Given the description of an element on the screen output the (x, y) to click on. 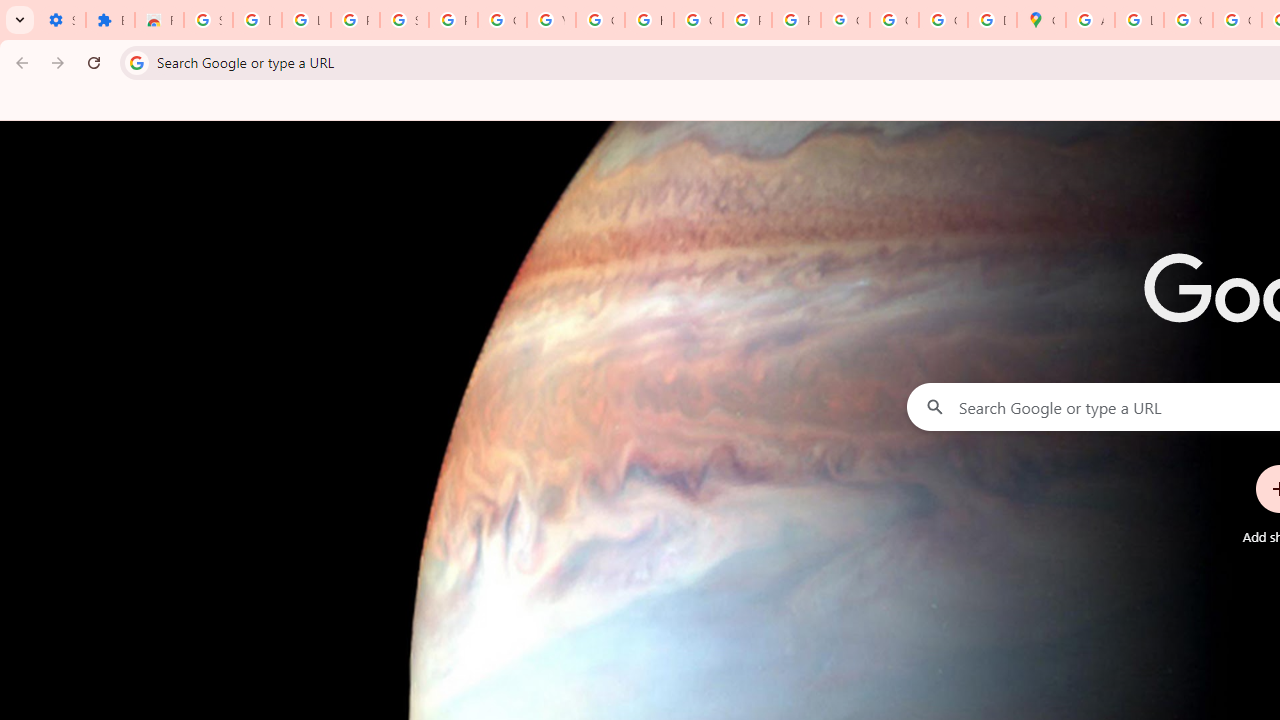
Settings - On startup (61, 20)
Sign in - Google Accounts (208, 20)
Create your Google Account (1188, 20)
Reviews: Helix Fruit Jump Arcade Game (159, 20)
Google Maps (1041, 20)
Delete photos & videos - Computer - Google Photos Help (257, 20)
